Given the description of an element on the screen output the (x, y) to click on. 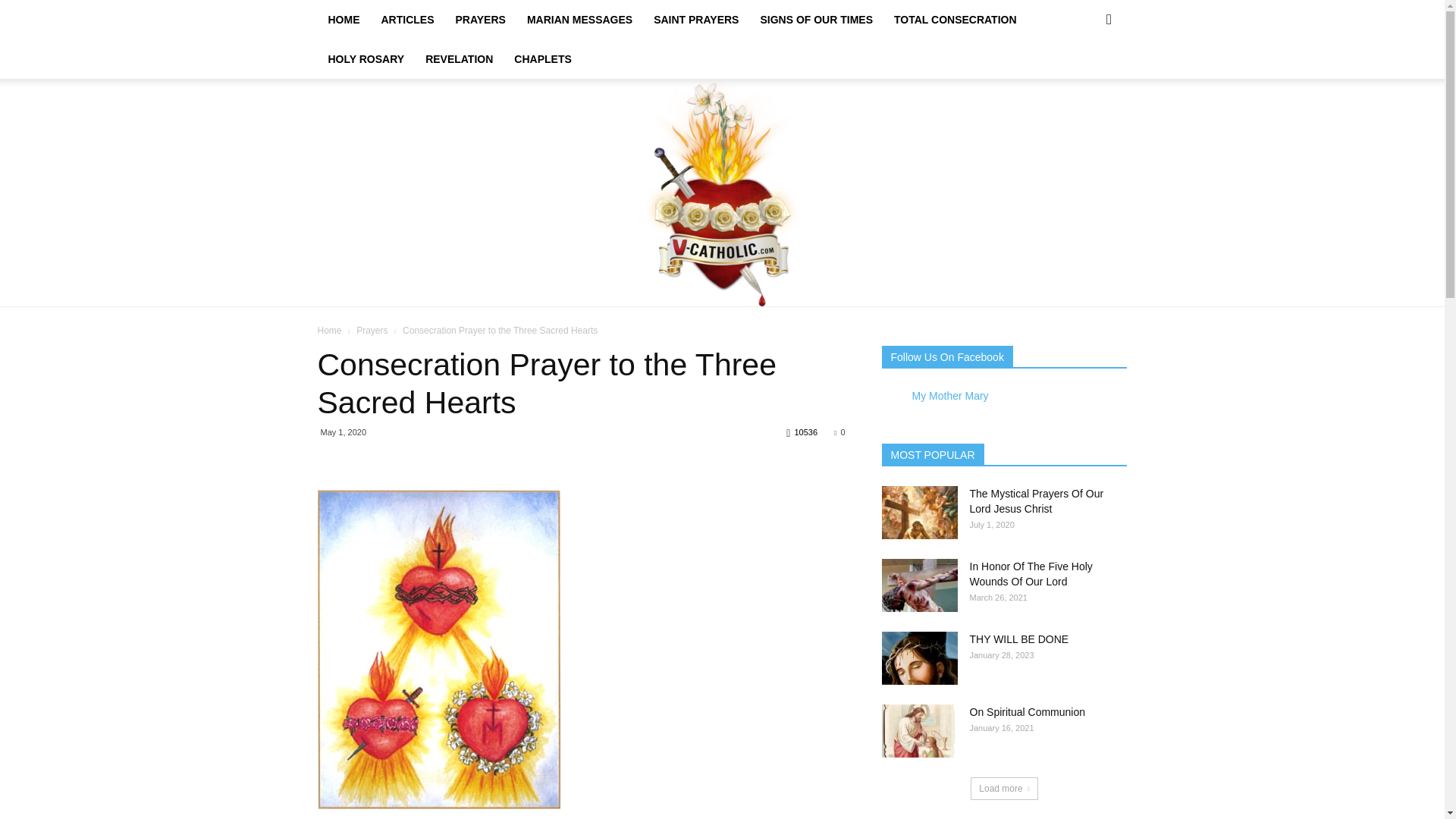
PRAYERS (479, 19)
HOLY ROSARY (365, 58)
MARIAN MESSAGES (579, 19)
TOTAL CONSECRATION (955, 19)
ARTICLES (406, 19)
SIGNS OF OUR TIMES (816, 19)
Search (1085, 81)
SAINT PRAYERS (696, 19)
HOME (343, 19)
REVELATION (458, 58)
View all posts in Prayers (371, 330)
Home (328, 330)
CHAPLETS (541, 58)
